Given the description of an element on the screen output the (x, y) to click on. 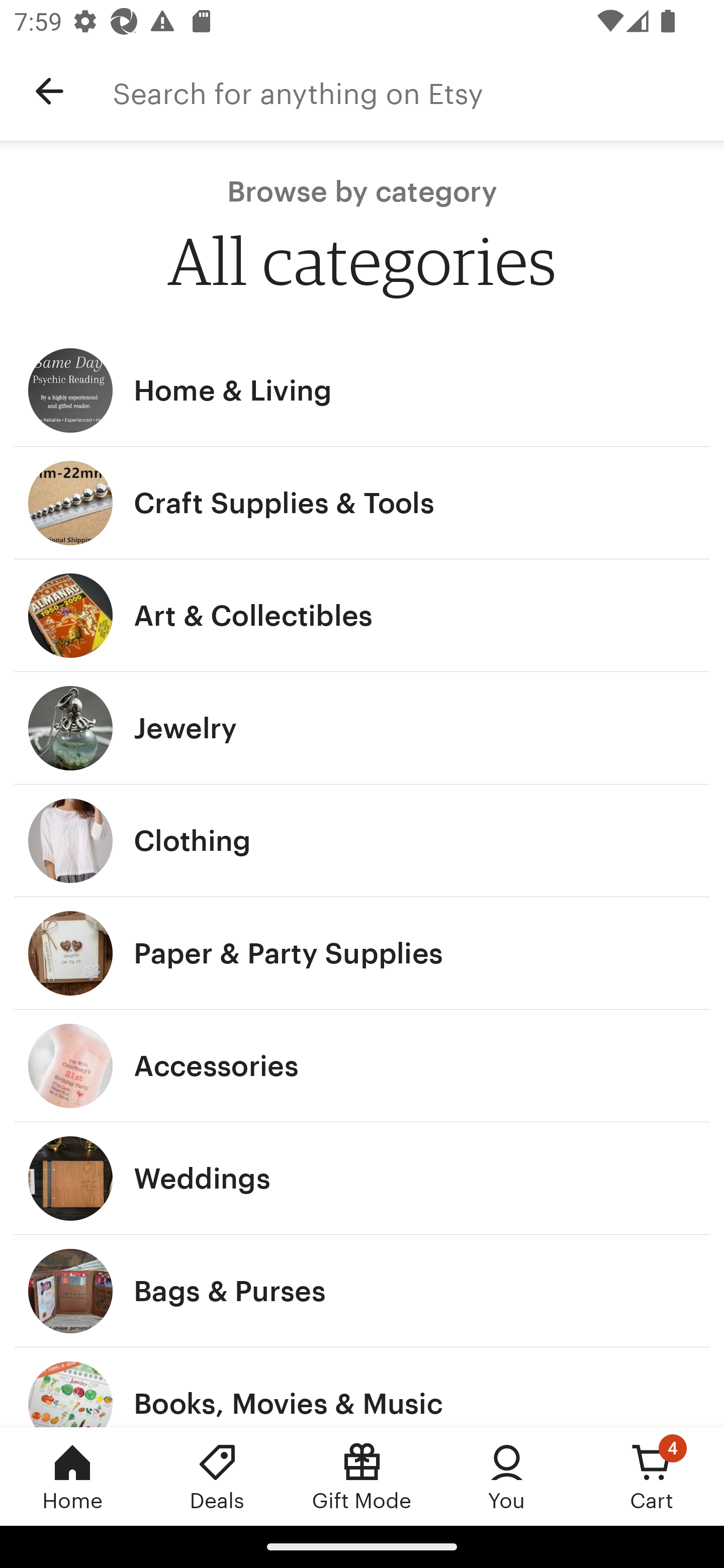
Navigate up (49, 91)
Search for anything on Etsy (418, 91)
Home & Living (361, 389)
Craft Supplies & Tools (361, 502)
Art & Collectibles (361, 615)
Jewelry (361, 728)
Clothing (361, 840)
Paper & Party Supplies (361, 952)
Accessories (361, 1065)
Weddings (361, 1178)
Bags & Purses (361, 1290)
Books, Movies & Music (361, 1386)
Deals (216, 1475)
Gift Mode (361, 1475)
You (506, 1475)
Cart, 4 new notifications Cart (651, 1475)
